Given the description of an element on the screen output the (x, y) to click on. 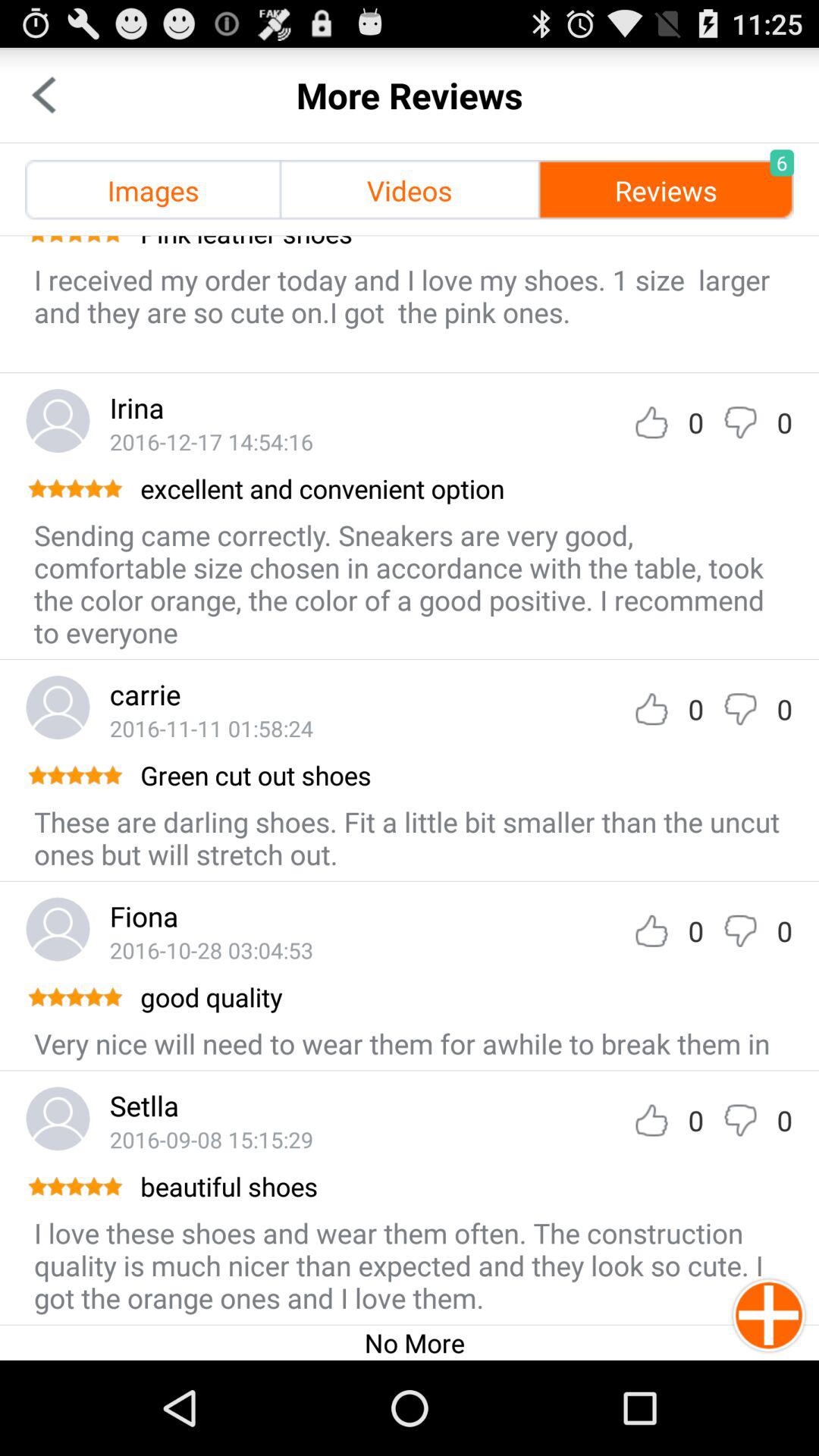
swipe to 2016 12 17 item (211, 441)
